Given the description of an element on the screen output the (x, y) to click on. 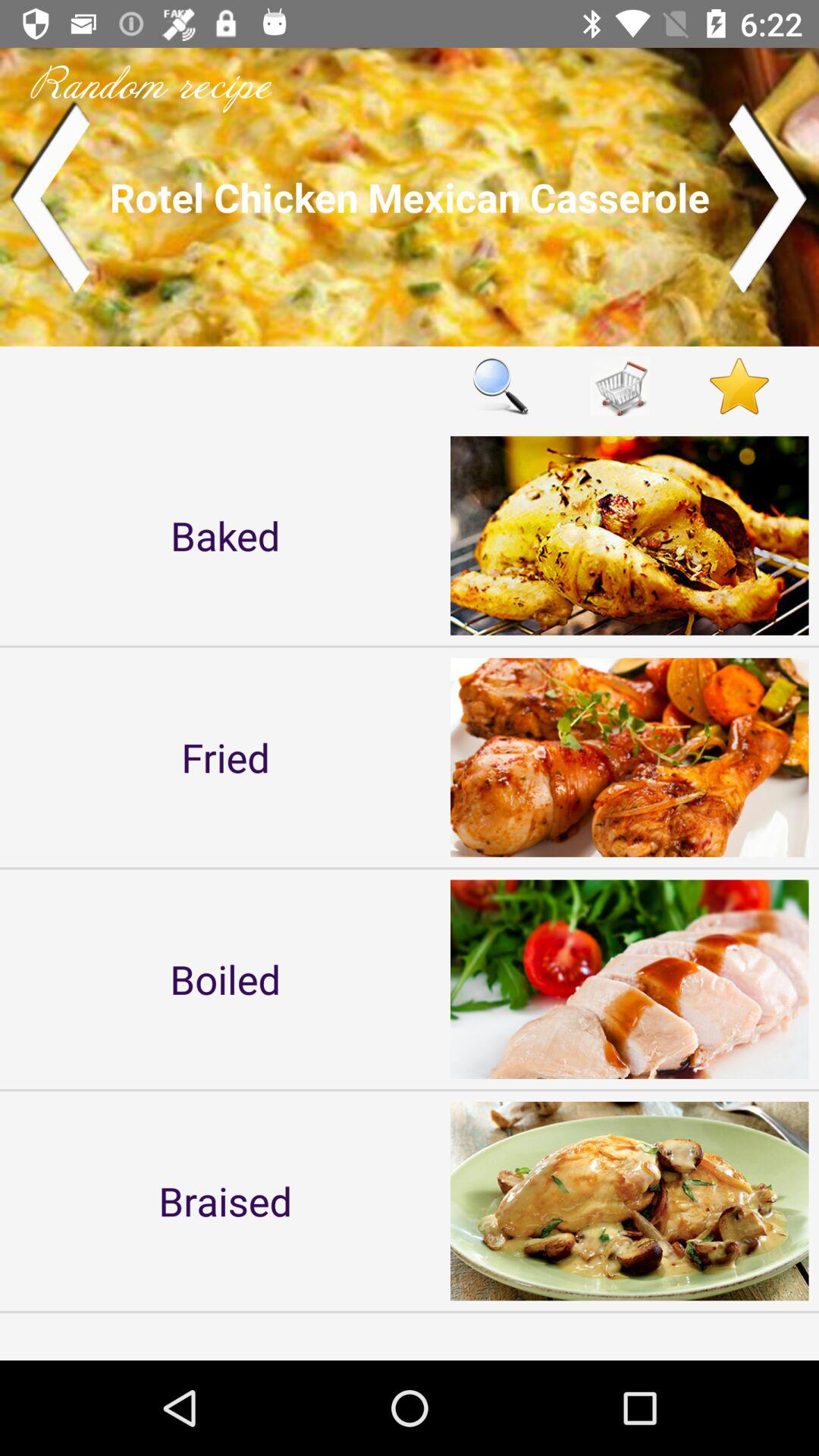
like (739, 385)
